Given the description of an element on the screen output the (x, y) to click on. 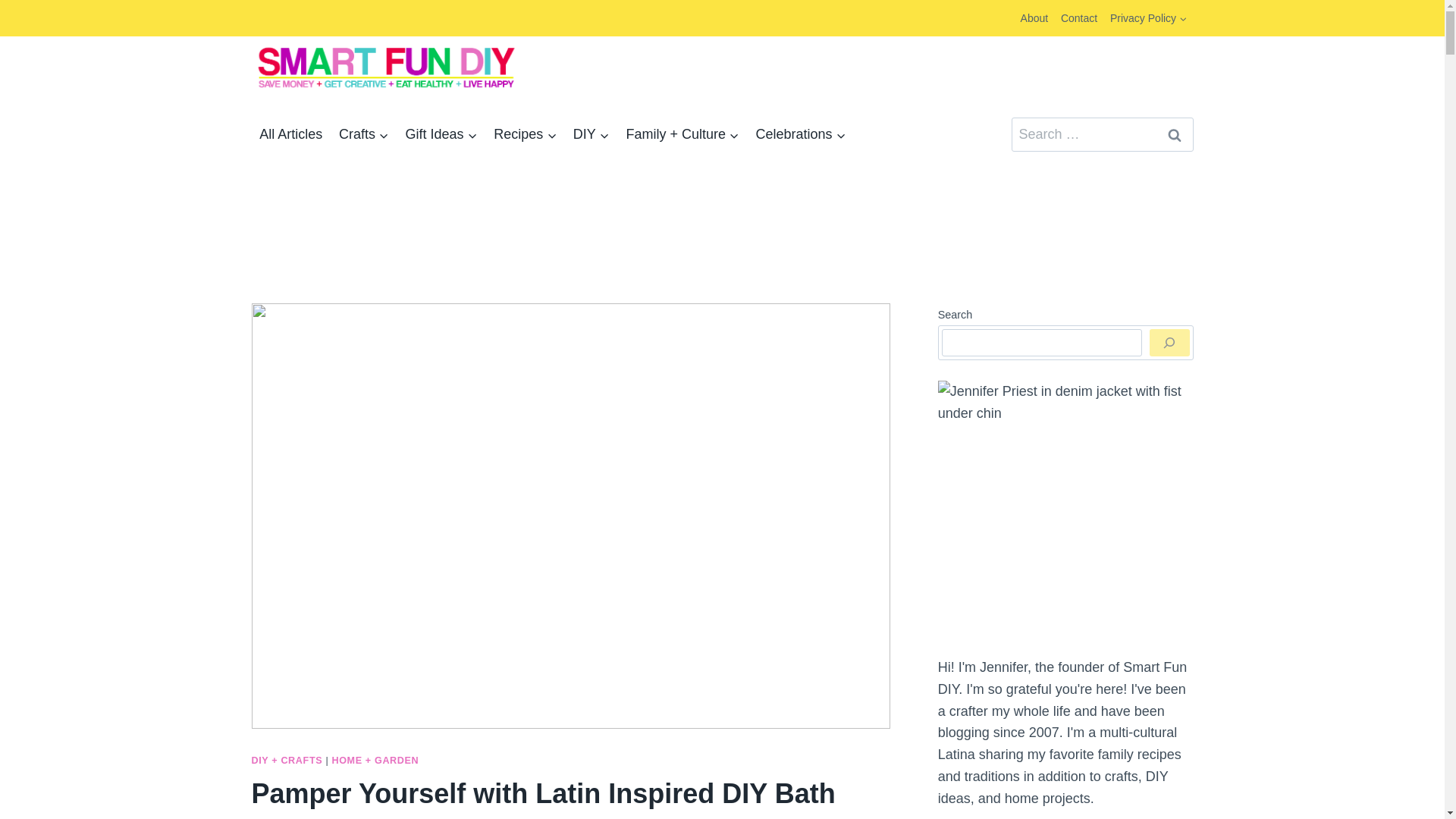
Gift Ideas (441, 134)
Celebrations (801, 134)
Crafts (363, 134)
Recipes (524, 134)
Contact (1078, 17)
DIY (590, 134)
Search (1174, 134)
All Articles (291, 134)
Privacy Policy (1148, 17)
Search (1174, 134)
